Given the description of an element on the screen output the (x, y) to click on. 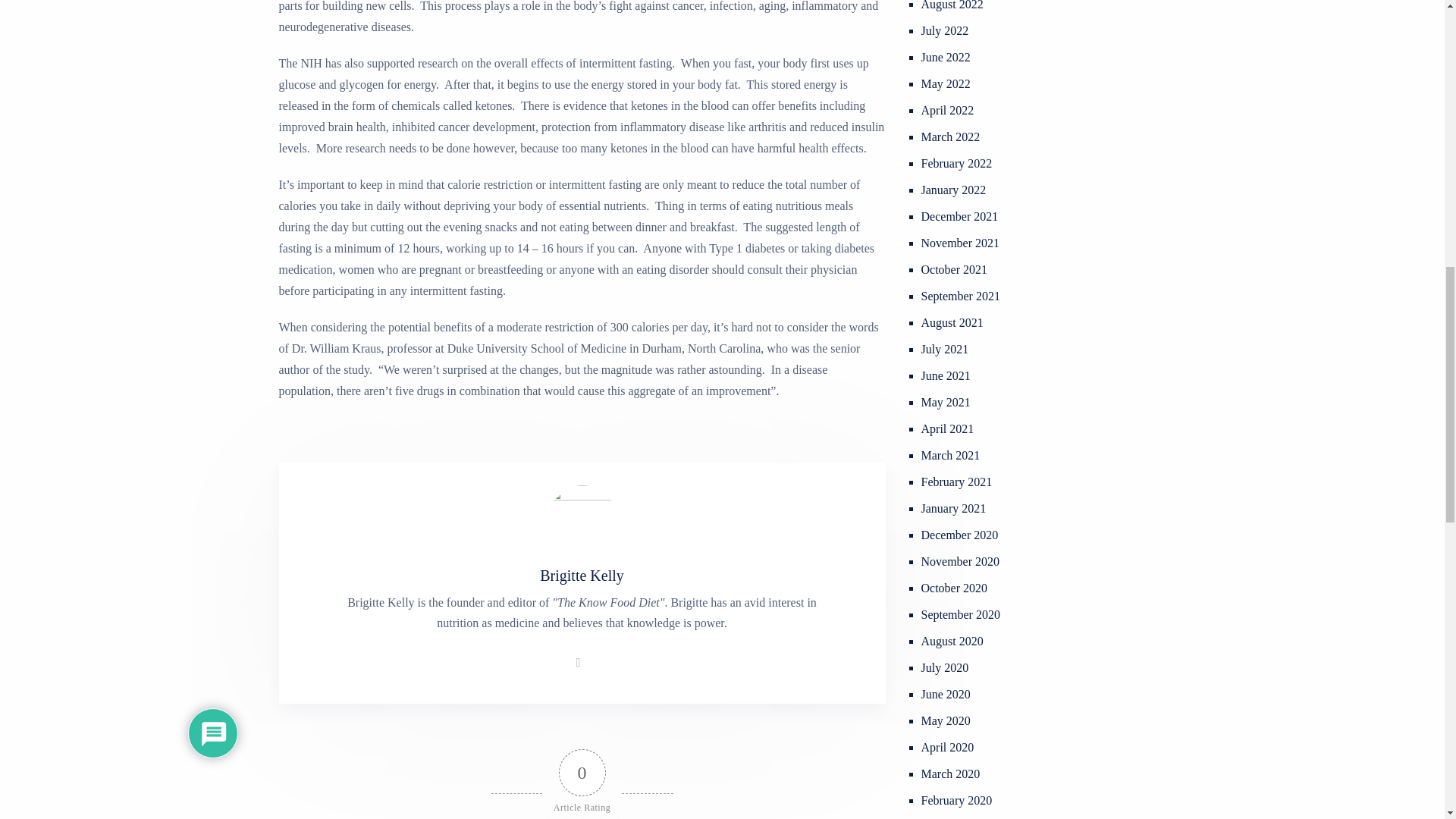
Brigitte Kelly (582, 575)
